Given the description of an element on the screen output the (x, y) to click on. 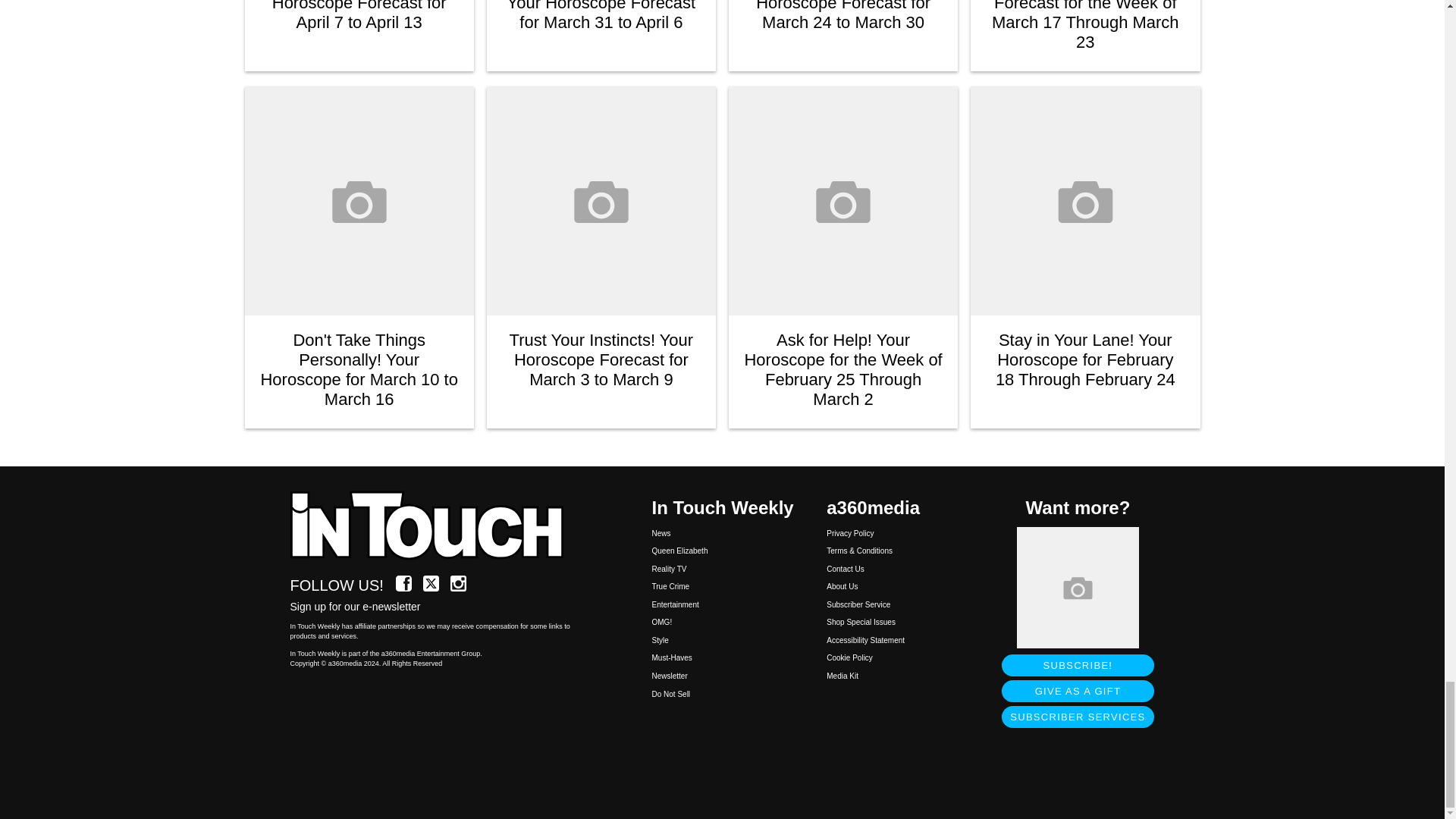
Home (434, 526)
